Given the description of an element on the screen output the (x, y) to click on. 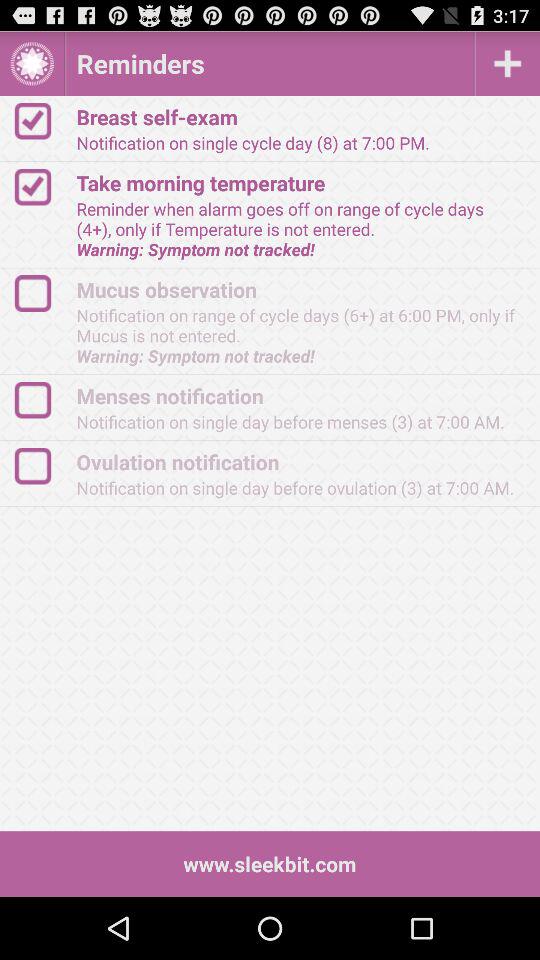
tap to uncheck (41, 120)
